Given the description of an element on the screen output the (x, y) to click on. 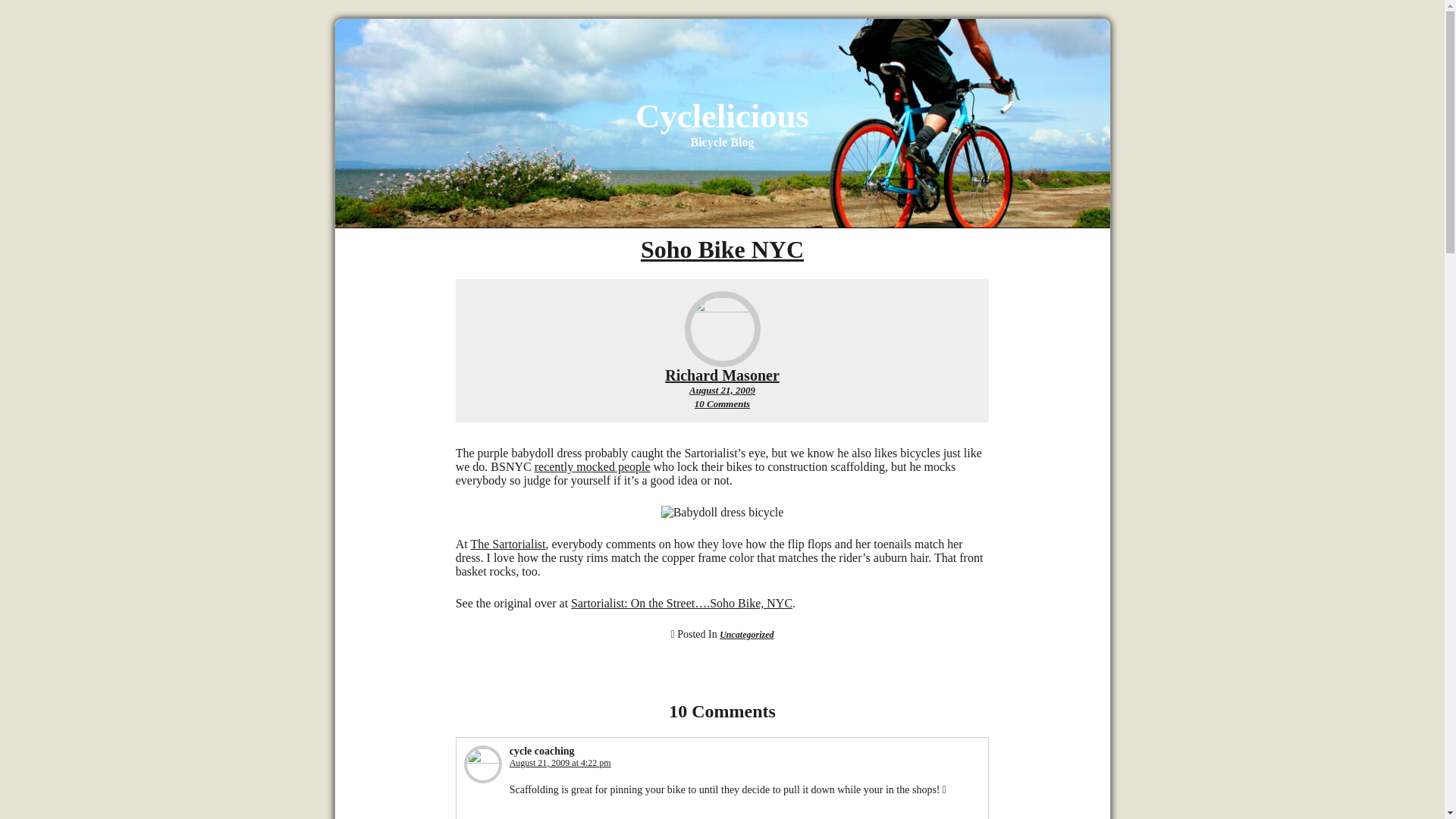
Soho Bike NYC (721, 248)
Richard Masoner (721, 375)
7:30 am (721, 389)
recently mocked people (721, 403)
August 21, 2009 (592, 466)
August 21, 2009 at 4:22 pm (721, 389)
View all posts by Richard Masoner (560, 762)
Skip to content (721, 375)
Cyclelicious (746, 634)
The Sartorialist (721, 116)
